Given the description of an element on the screen output the (x, y) to click on. 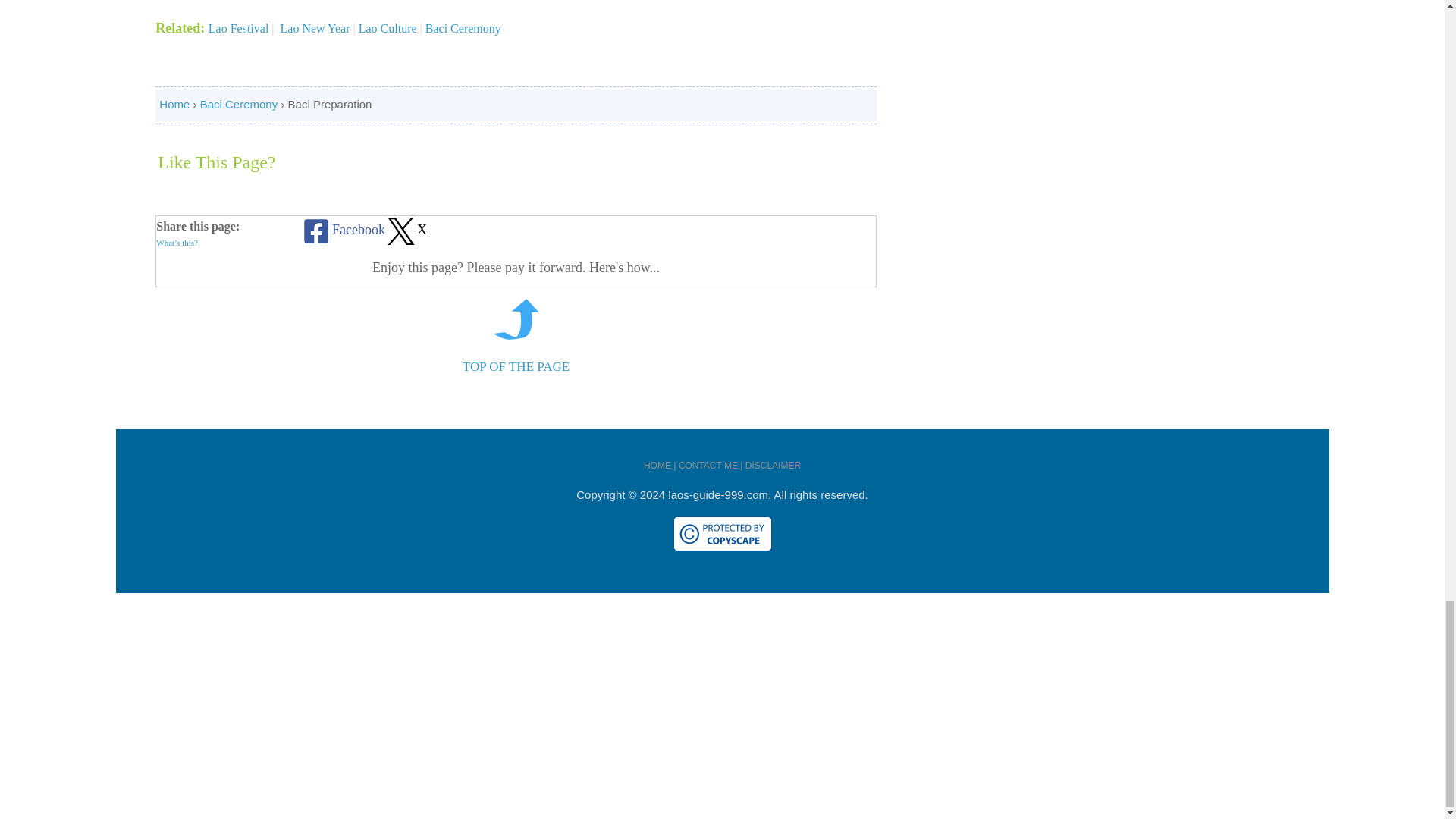
Lao Festival (238, 28)
Go to Baci Ceremony - Laos national custom of blessing (515, 335)
